Given the description of an element on the screen output the (x, y) to click on. 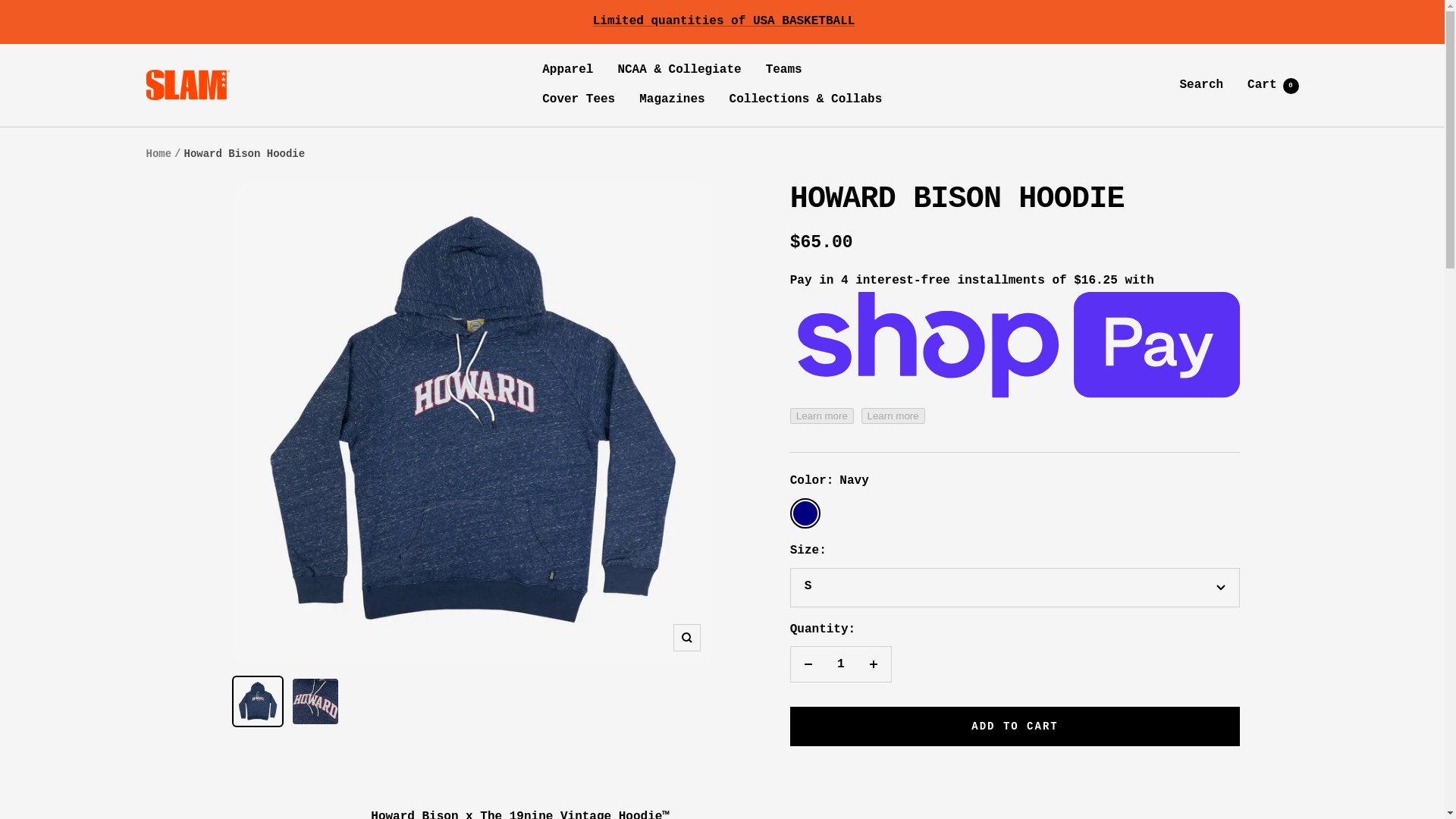
Home (158, 153)
Apparel (566, 70)
L (1272, 84)
XL (1015, 695)
SLAM Goods (1015, 729)
ADD TO CART (186, 84)
Decrease quantity (1015, 726)
Magazines (807, 664)
Search (671, 99)
